Given the description of an element on the screen output the (x, y) to click on. 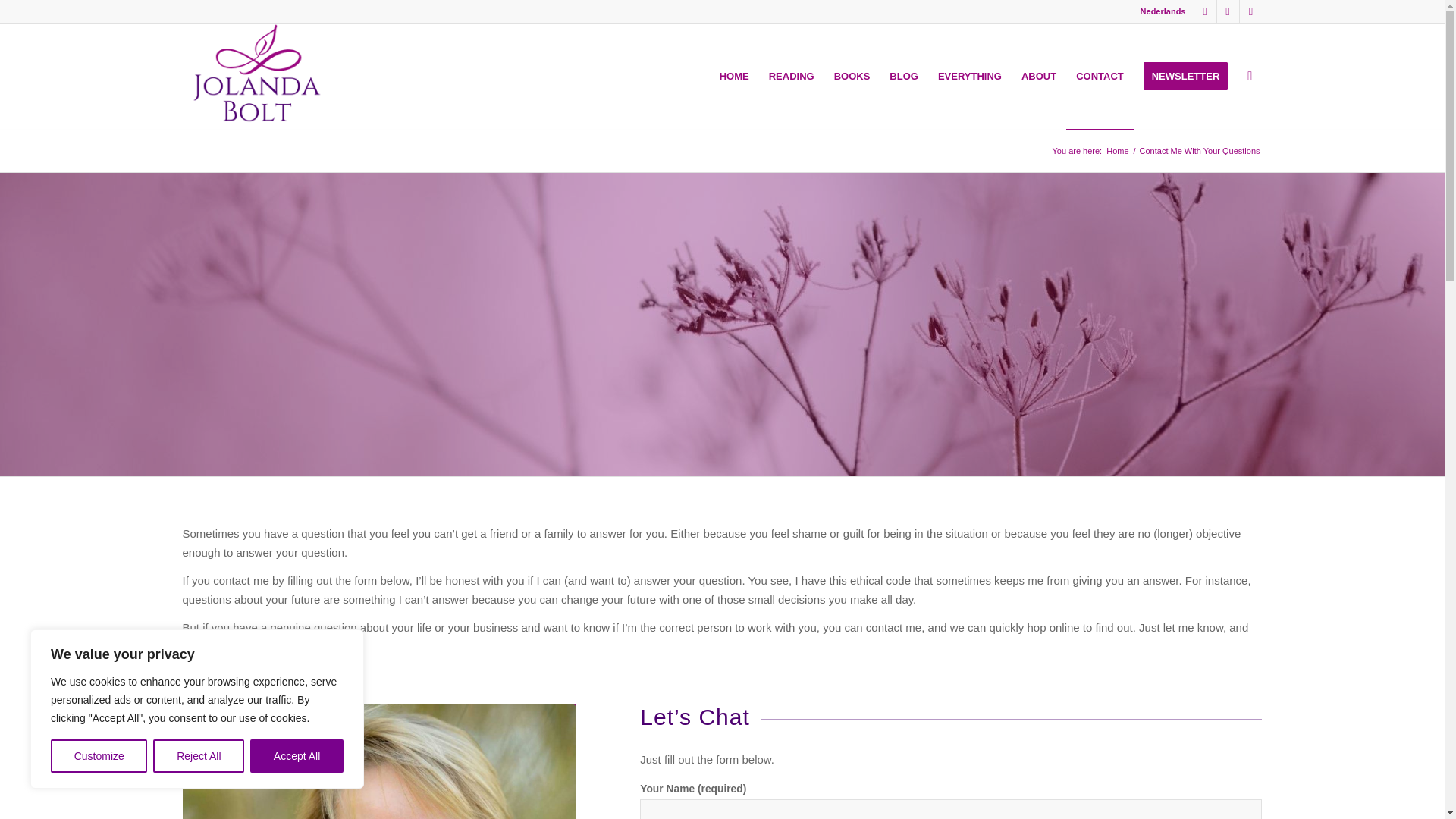
Logo kleur (258, 76)
Facebook (1227, 11)
Reject All (198, 756)
Nederlands (1163, 10)
Customize (98, 756)
Jolanda Bolt (1117, 151)
Instagram (1204, 11)
Akashic Records Weight Loss Coaching (378, 761)
Accept All (296, 756)
Home (1117, 151)
